Given the description of an element on the screen output the (x, y) to click on. 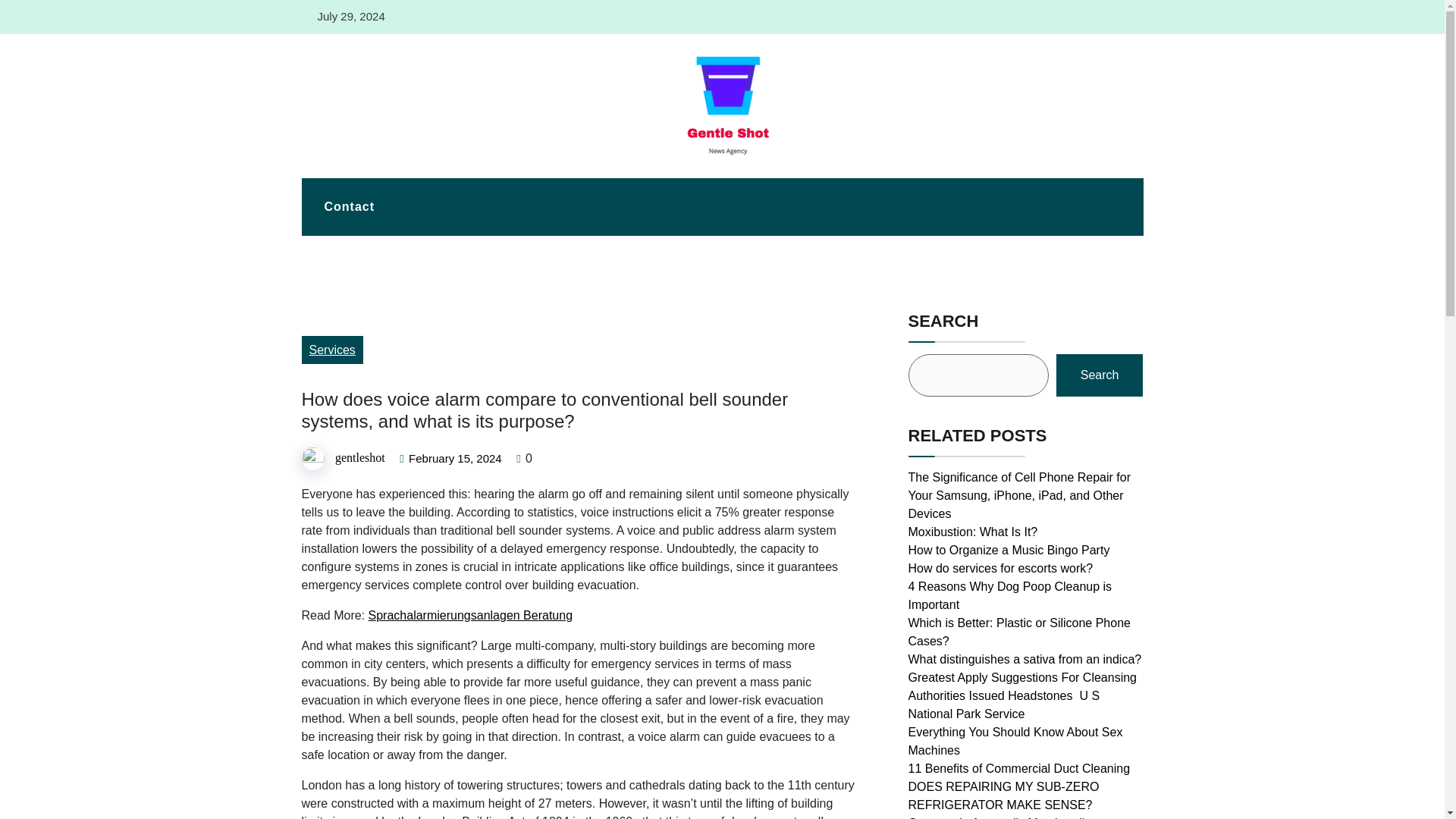
February 15, 2024 (455, 458)
Gentle Shot (345, 170)
How to Organize a Music Bingo Party (1008, 549)
Gentle Shot (345, 170)
Services (331, 349)
Sprachalarmierungsanlagen Beratung (470, 615)
Search (1099, 374)
DOES REPAIRING MY SUB-ZERO REFRIGERATOR MAKE SENSE? (1003, 795)
11 Benefits of Commercial Duct Cleaning (1019, 768)
Moxibustion: What Is It? (973, 531)
Which is Better: Plastic or Silicone Phone Cases? (1019, 631)
How do services for escorts work? (1000, 567)
